Given the description of an element on the screen output the (x, y) to click on. 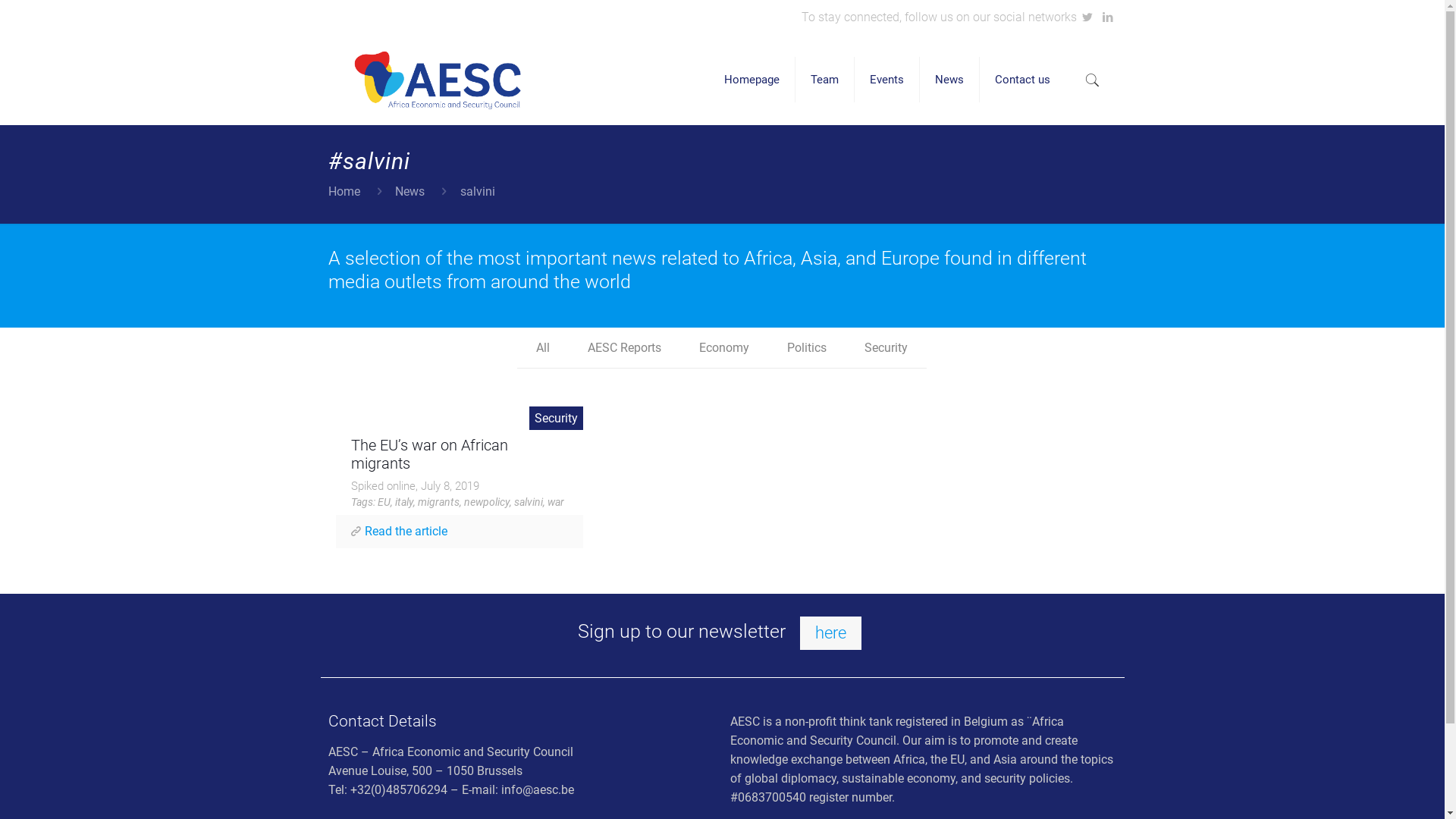
EU Element type: text (383, 501)
News Element type: text (949, 79)
Team Element type: text (824, 79)
AESC Element type: hover (437, 79)
italy Element type: text (404, 501)
AESC Reports Element type: text (624, 347)
newpolicy Element type: text (486, 501)
Home Element type: text (344, 191)
All Element type: text (542, 347)
Politics Element type: text (806, 347)
Contact us Element type: text (1022, 79)
Homepage Element type: text (752, 79)
Read the article Element type: text (405, 531)
News Element type: text (409, 191)
salvini Element type: text (528, 501)
Events Element type: text (886, 79)
war Element type: text (555, 501)
Security Element type: text (555, 417)
LinkedIn Element type: hover (1108, 17)
Economy Element type: text (724, 347)
here Element type: text (830, 632)
migrants Element type: text (438, 501)
Security Element type: text (885, 347)
Twitter Element type: hover (1087, 17)
